Given the description of an element on the screen output the (x, y) to click on. 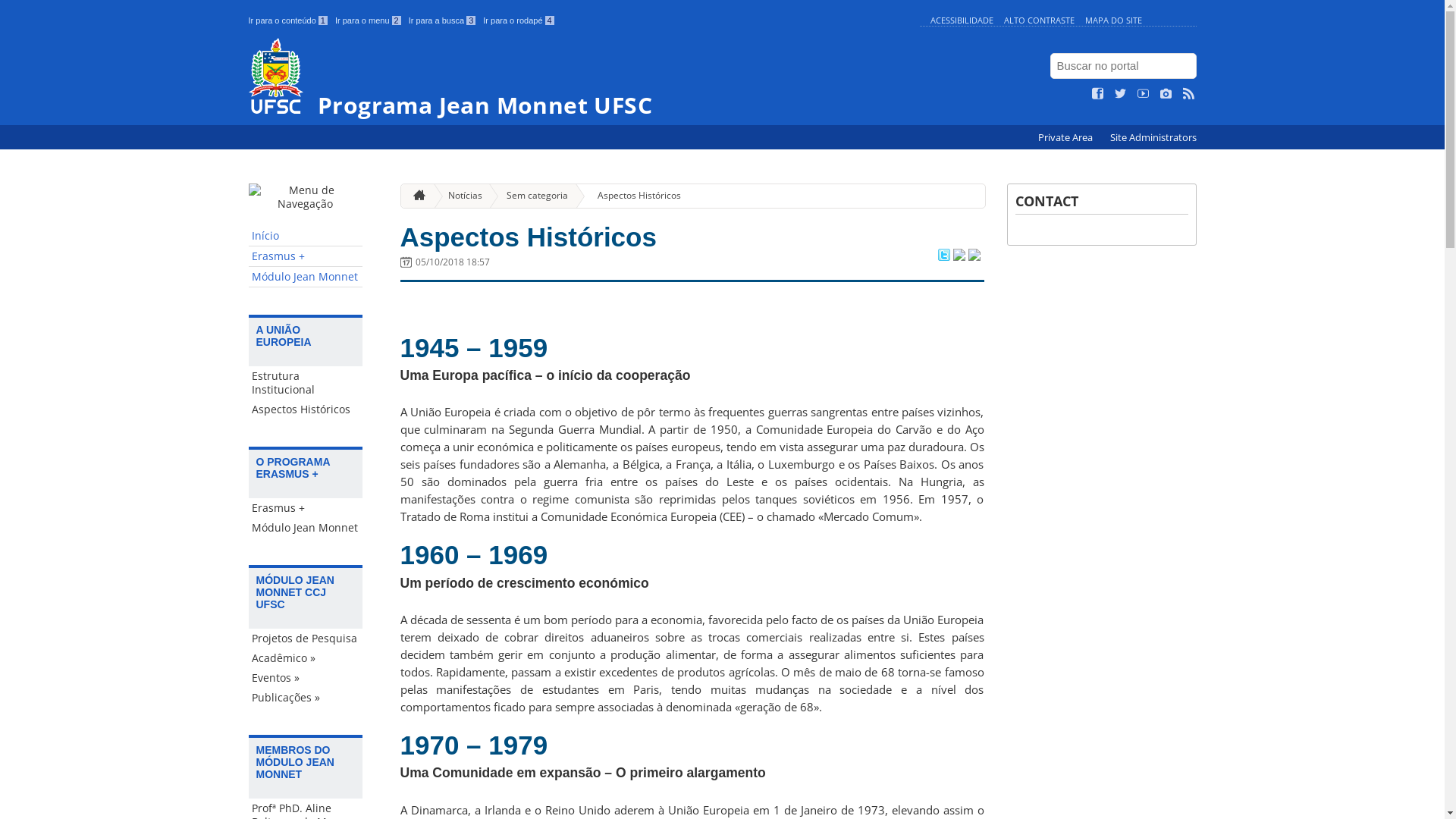
Compartilhar no Twitter Element type: hover (943, 255)
Ir para a busca 3 Element type: text (442, 20)
Veja no Instagram Element type: hover (1166, 93)
Sem categoria Element type: text (531, 195)
ALTO CONTRASTE Element type: text (1039, 19)
ACESSIBILIDADE Element type: text (960, 19)
Erasmus + Element type: text (305, 256)
Compartilhar no Facebook Element type: hover (958, 255)
Siga no Twitter Element type: hover (1120, 93)
Curta no Facebook Element type: hover (1098, 93)
Site Administrators Element type: text (1153, 137)
Estrutura Institucional Element type: text (305, 382)
Erasmus + Element type: text (305, 507)
Projetos de Pesquisa Element type: text (305, 638)
Compartilhar no WhatsApp Element type: hover (973, 255)
Programa Jean Monnet UFSC Element type: text (580, 77)
Ir para o menu 2 Element type: text (368, 20)
Private Area Element type: text (1065, 137)
MAPA DO SITE Element type: text (1112, 19)
